Given the description of an element on the screen output the (x, y) to click on. 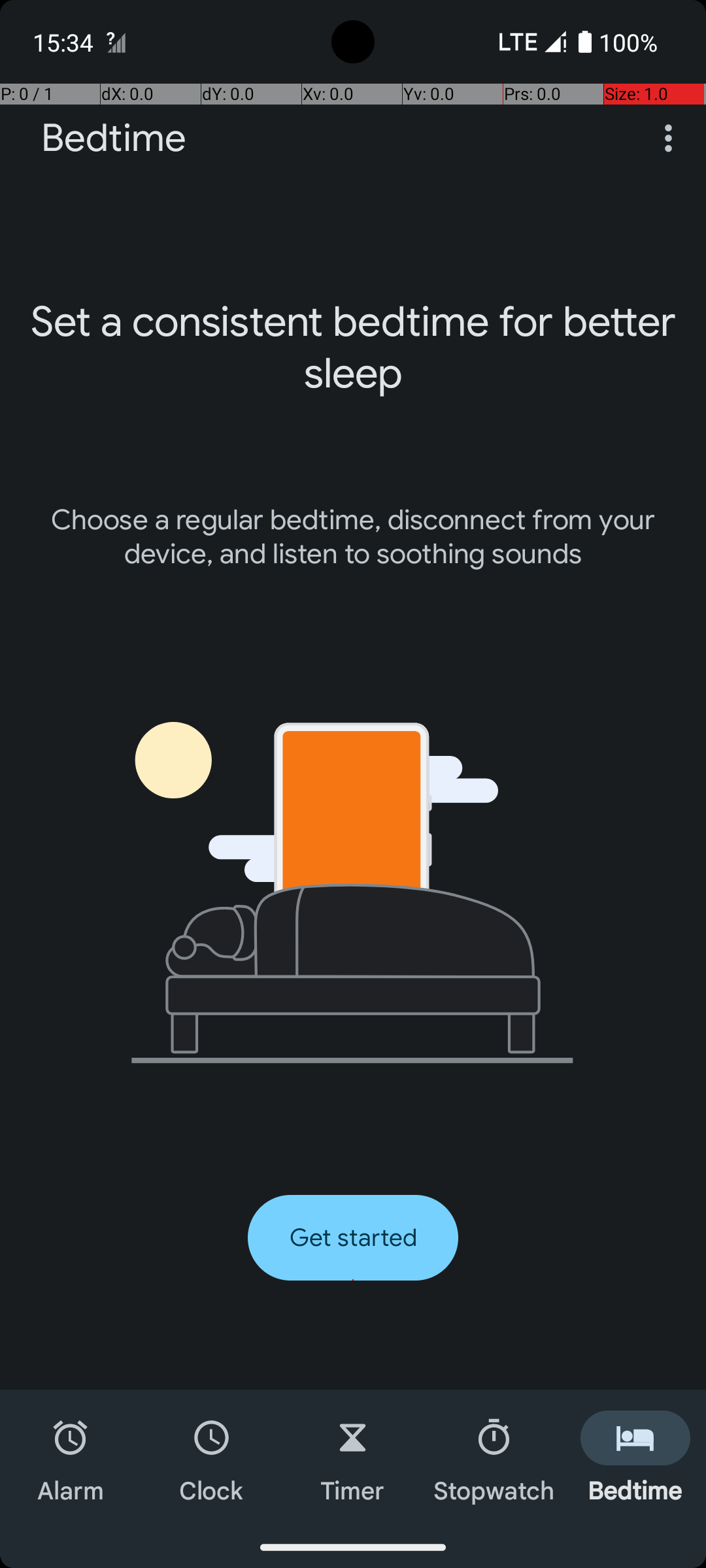
Choose a regular bedtime, disconnect from your device, and listen to soothing sounds Element type: android.widget.TextView (352, 536)
Android System notification: Sign in to network Element type: android.widget.ImageView (115, 41)
